Given the description of an element on the screen output the (x, y) to click on. 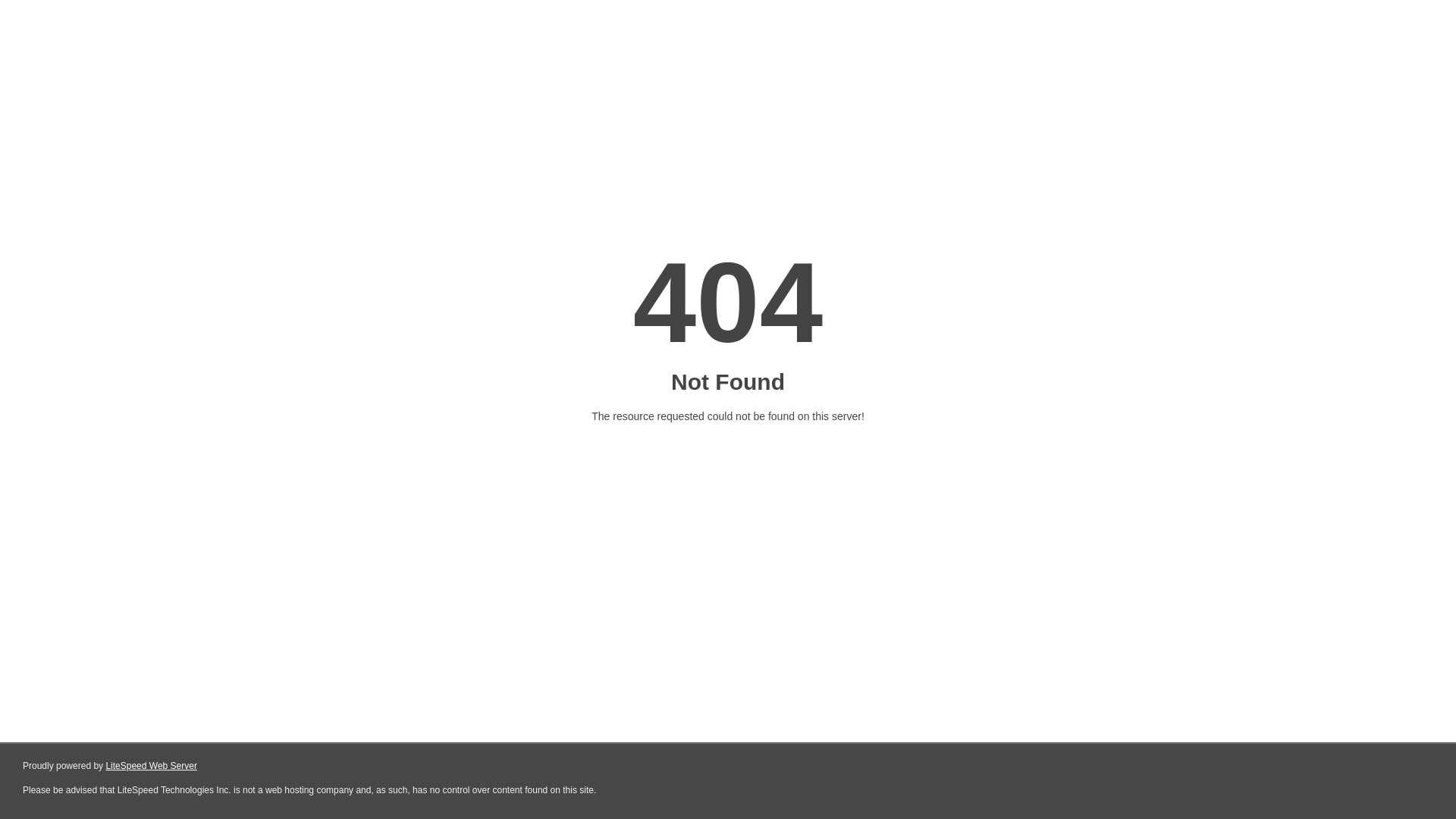
LiteSpeed Web Server Element type: text (151, 765)
